Given the description of an element on the screen output the (x, y) to click on. 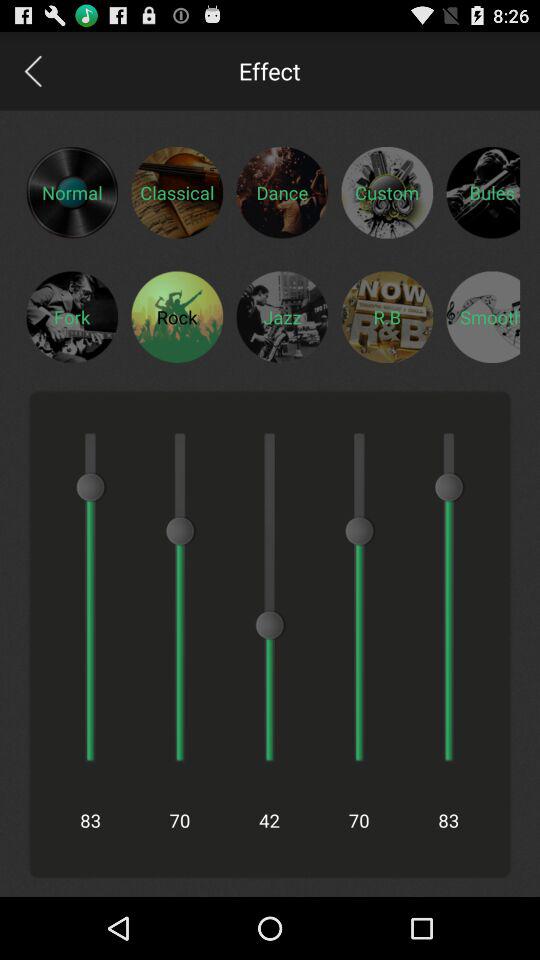
pick option classical effect (177, 191)
